Given the description of an element on the screen output the (x, y) to click on. 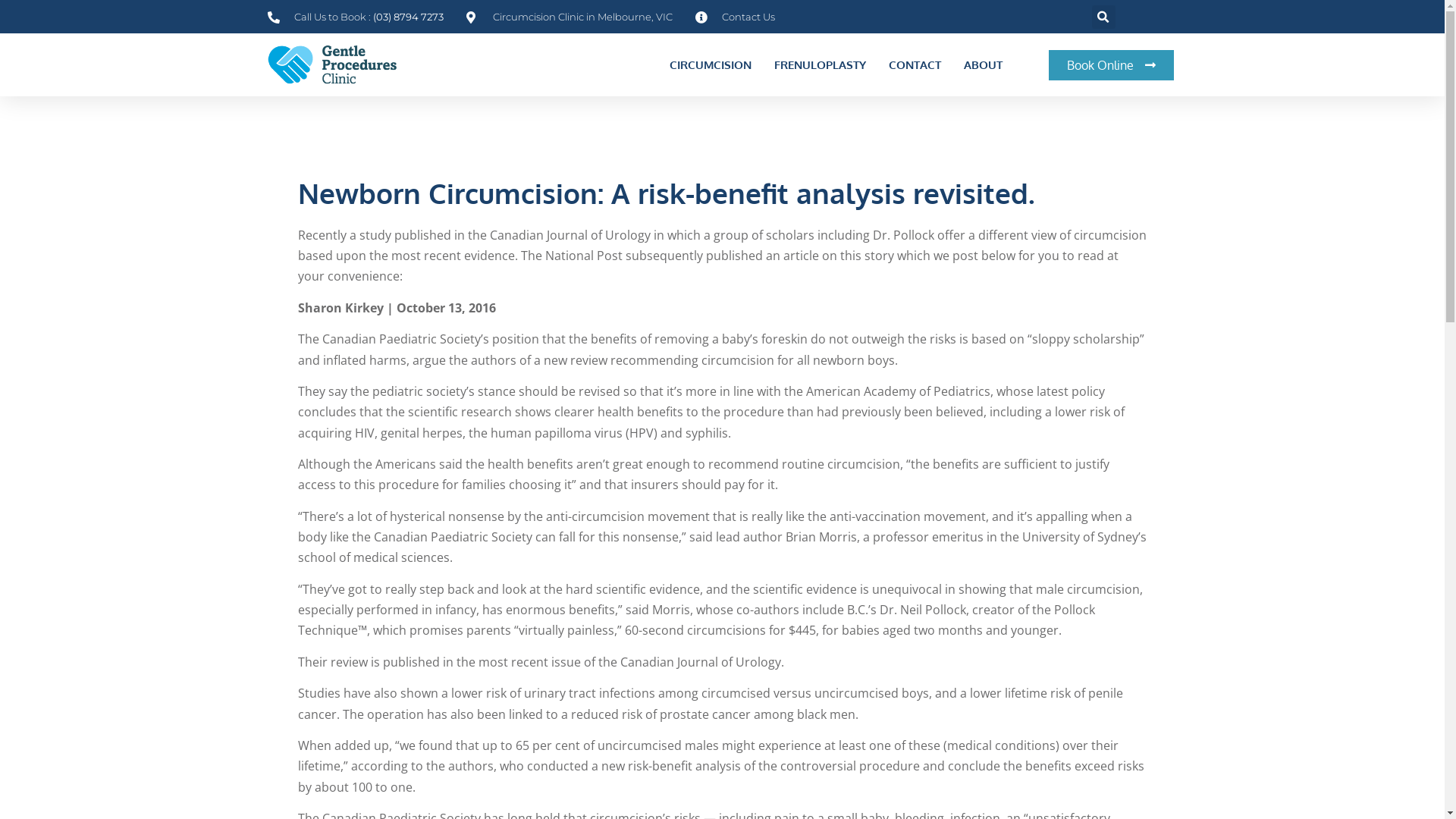
Contact Us Element type: text (734, 16)
CONTACT Element type: text (913, 64)
Call Us to Book : (03) 8794 7273 Element type: text (354, 16)
Circumcision Clinic in Melbourne, VIC Element type: text (568, 16)
Book Online Element type: text (1110, 65)
ABOUT Element type: text (982, 64)
CIRCUMCISION Element type: text (710, 64)
FRENULOPLASTY Element type: text (819, 64)
